Given the description of an element on the screen output the (x, y) to click on. 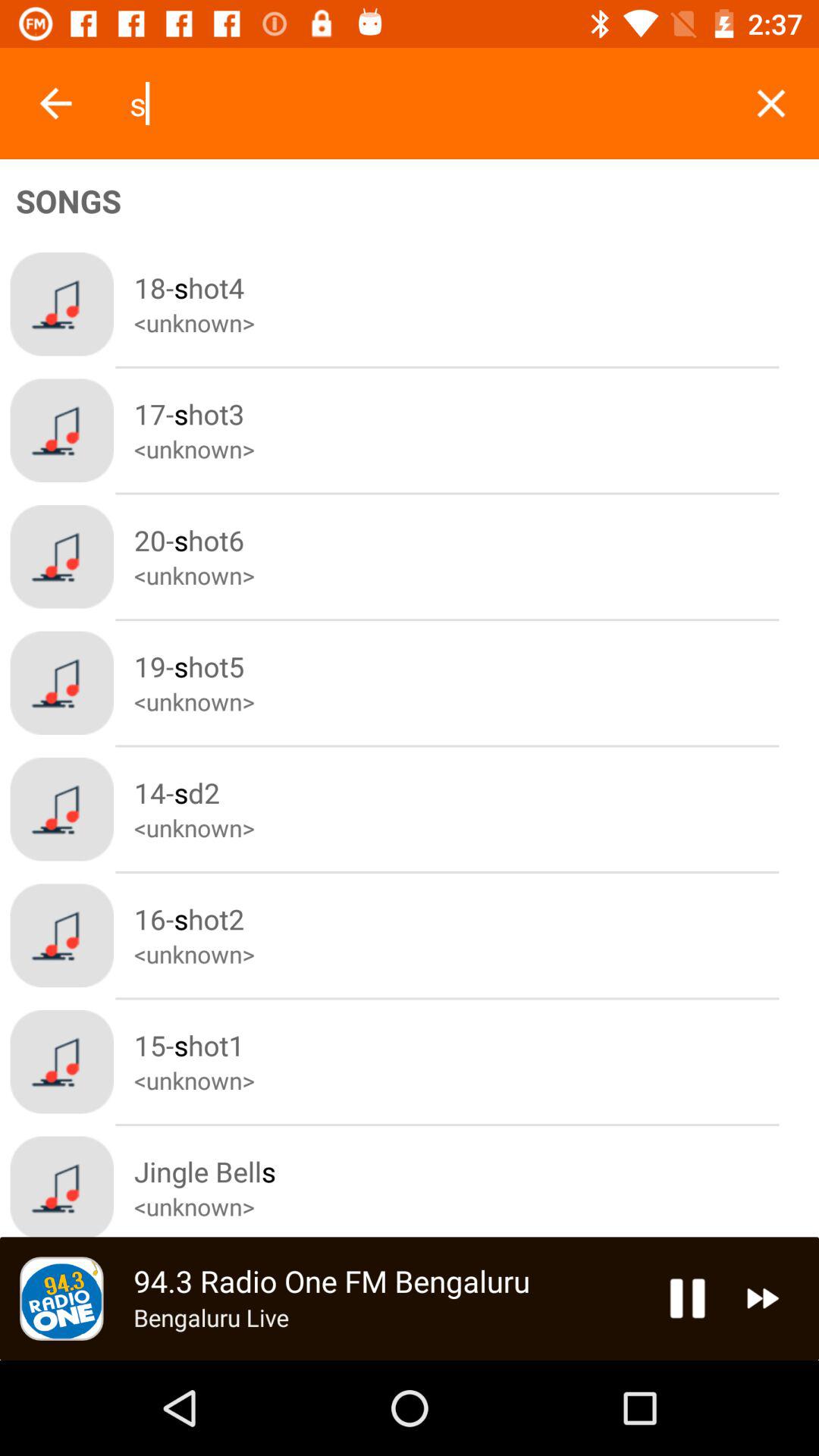
back (55, 103)
